Given the description of an element on the screen output the (x, y) to click on. 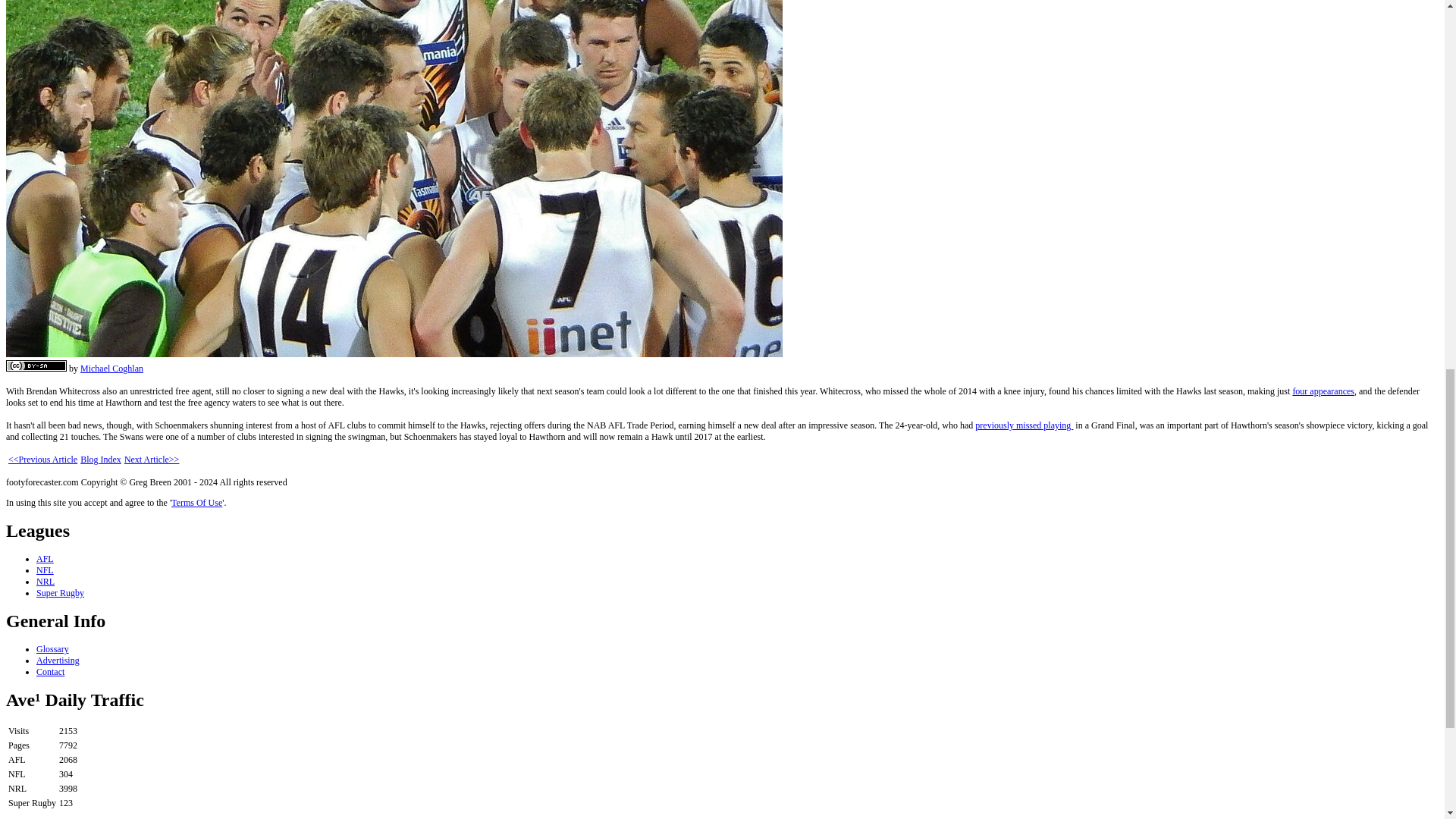
Blog Index (100, 459)
Contact (50, 671)
four appearances (1323, 390)
Advertising (58, 660)
Glossary (52, 648)
Super Rugby (60, 593)
AFL (44, 558)
previously missed playing  (1024, 425)
NRL (45, 581)
Michael Coghlan (111, 368)
Terms Of Use (196, 502)
NFL (44, 570)
